Given the description of an element on the screen output the (x, y) to click on. 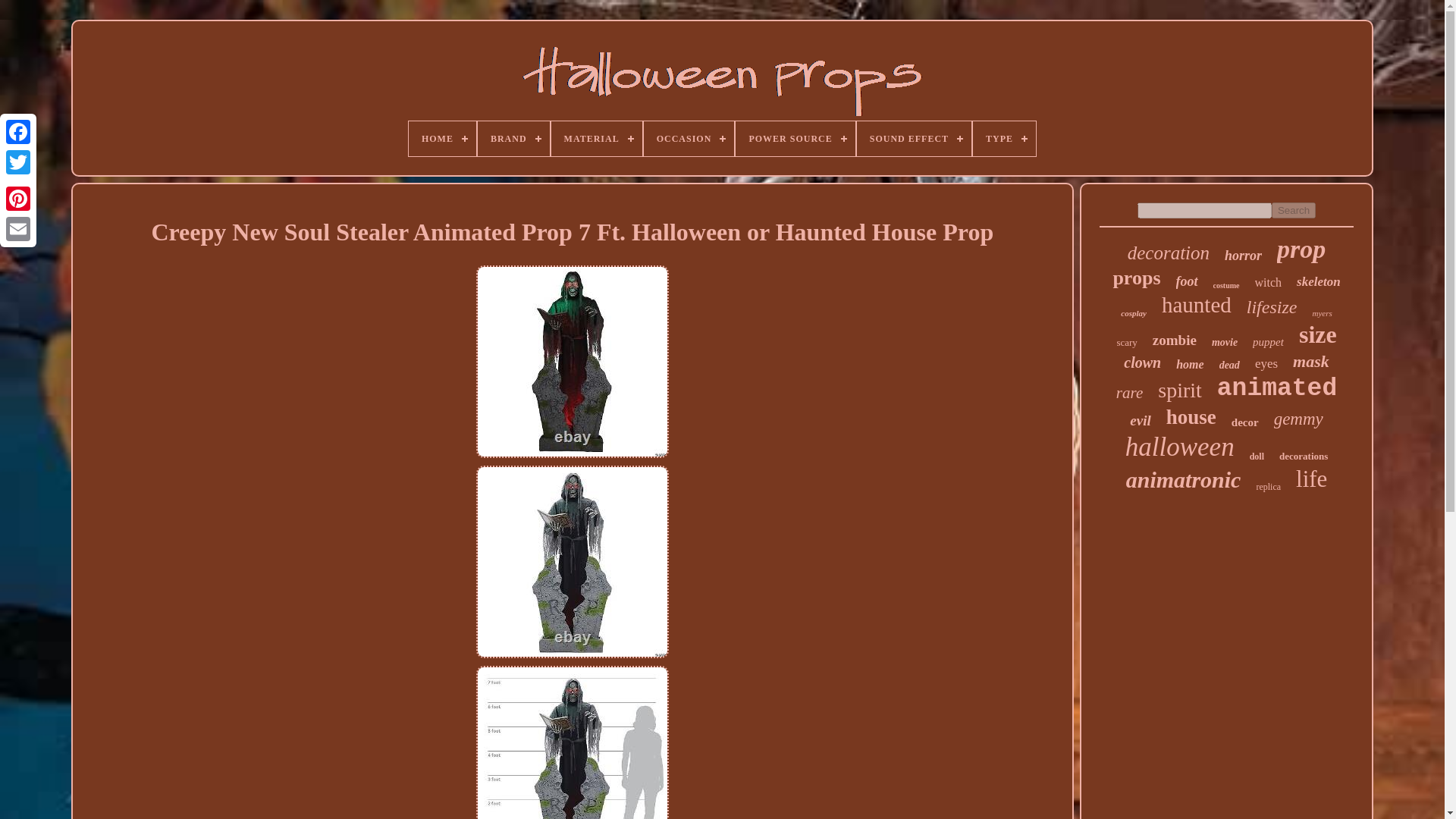
BRAND (513, 138)
Search (1293, 210)
HOME (442, 138)
MATERIAL (596, 138)
